Given the description of an element on the screen output the (x, y) to click on. 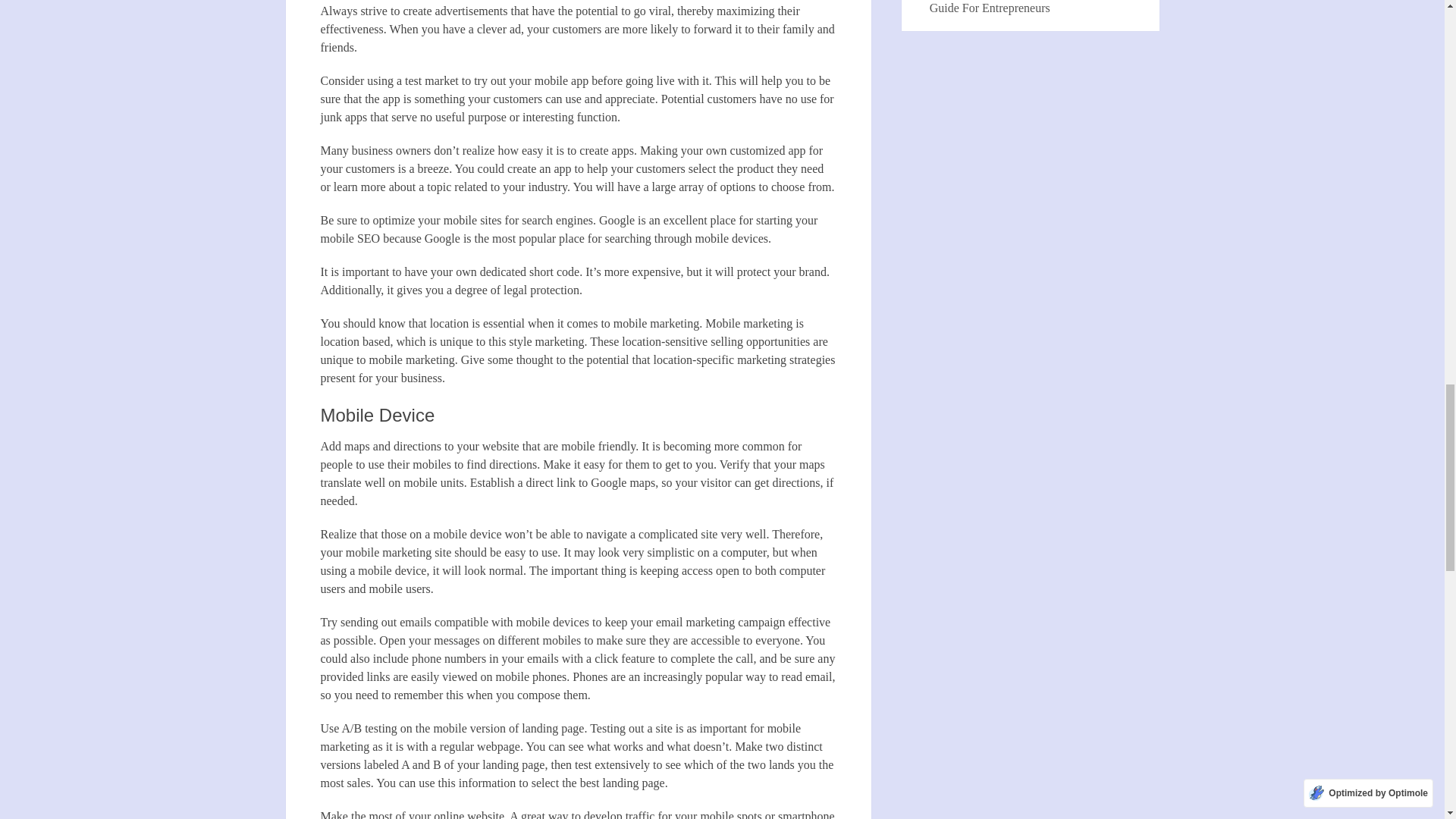
Affiliate Marketing: A Comprehensive Guide For Entrepreneurs (1023, 7)
